Given the description of an element on the screen output the (x, y) to click on. 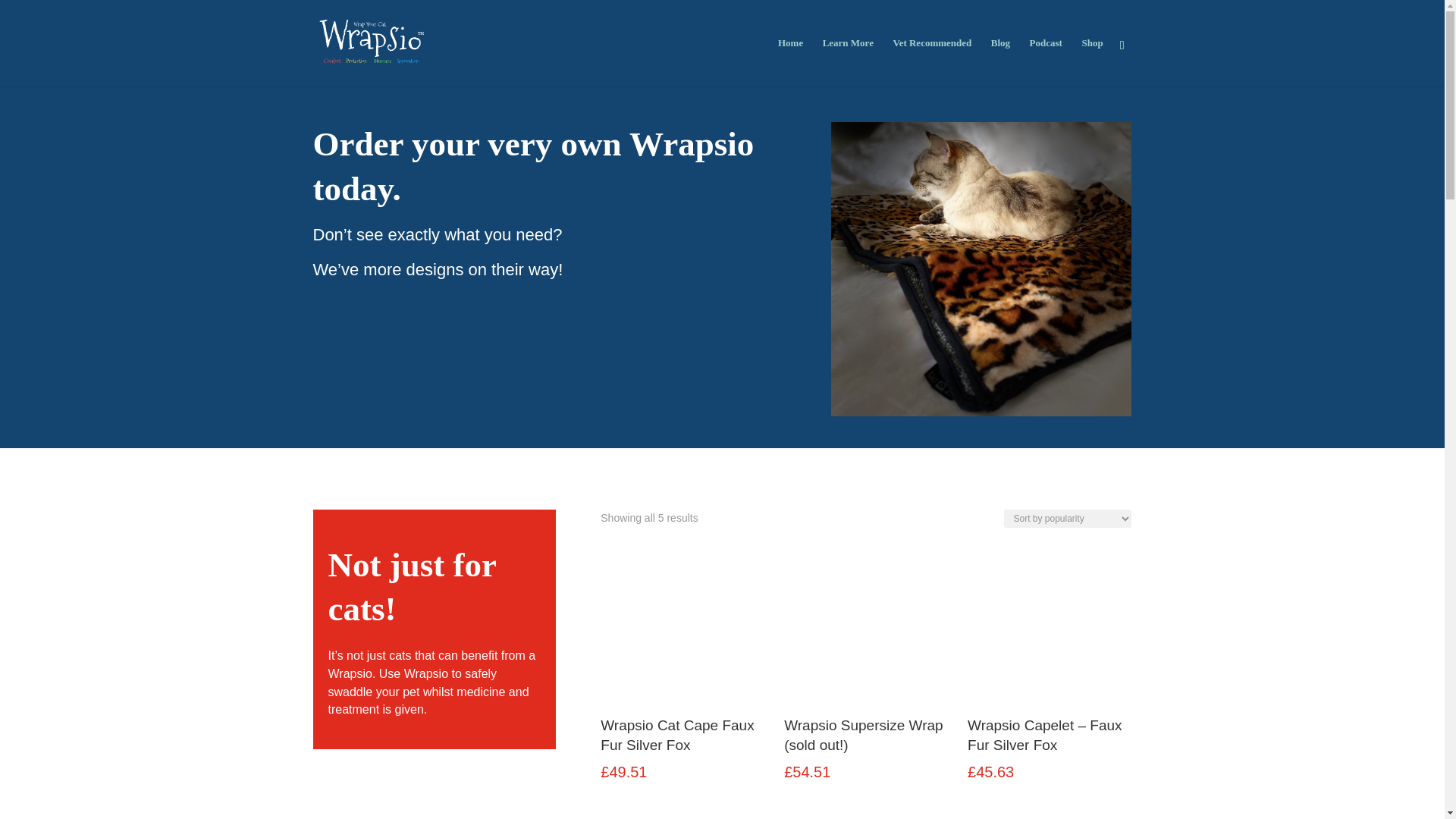
Learn More (847, 61)
Ewok Wrapsio leopard close up (981, 269)
Vet Recommended (931, 61)
Coming soon! Wrapsio Poncho Wrap (865, 816)
